Given the description of an element on the screen output the (x, y) to click on. 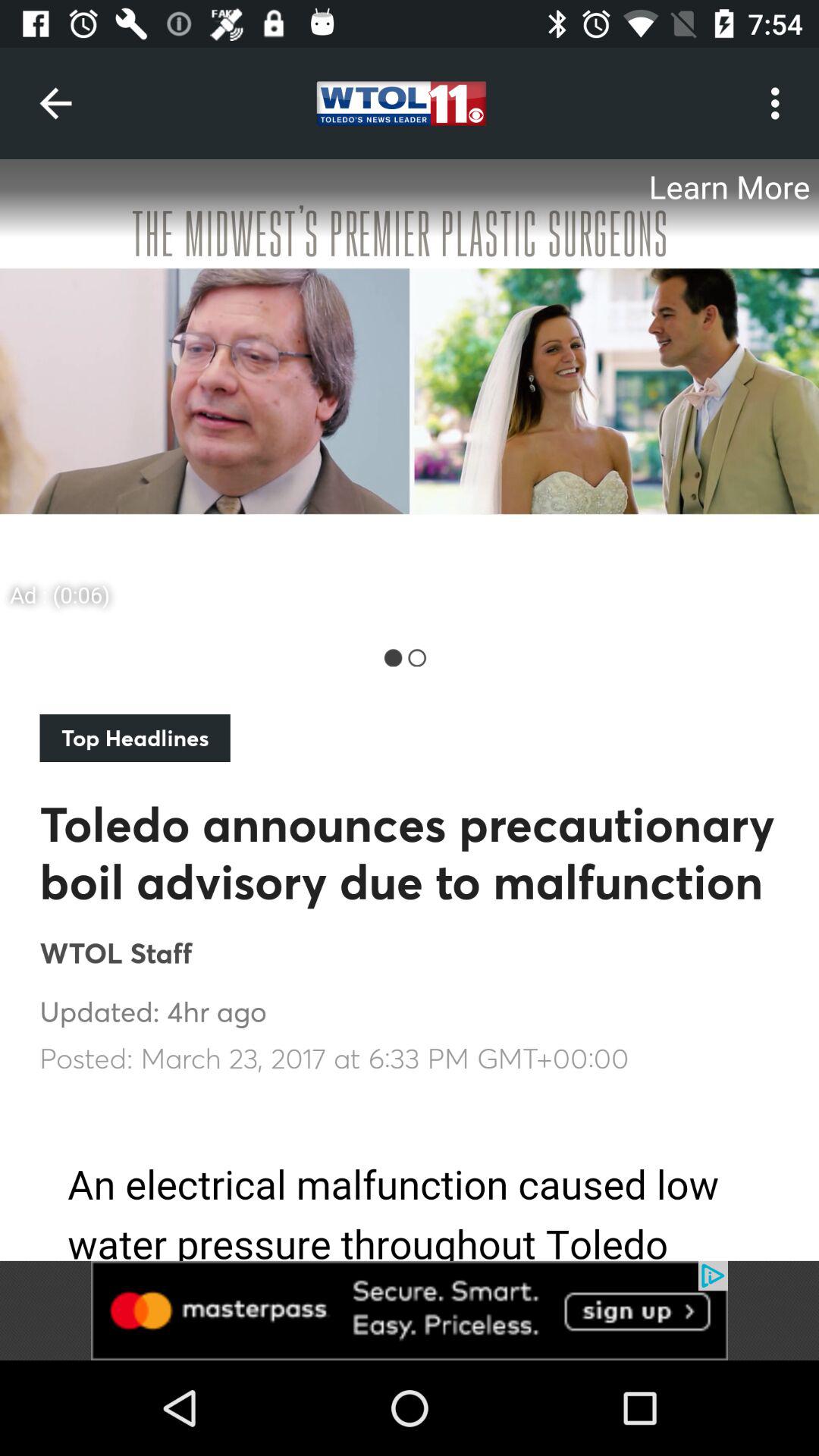
open advertisement (409, 389)
